Given the description of an element on the screen output the (x, y) to click on. 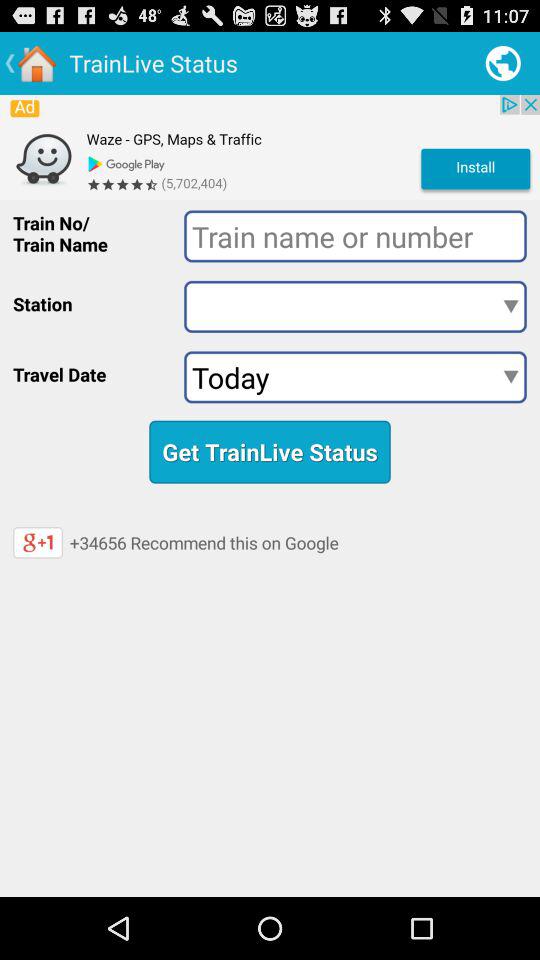
select station (355, 306)
